Given the description of an element on the screen output the (x, y) to click on. 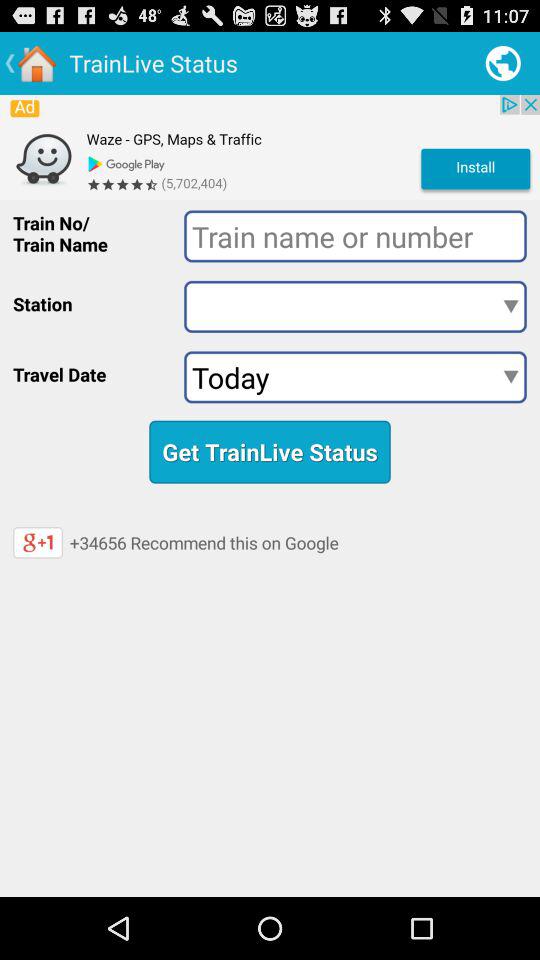
select station (355, 306)
